Given the description of an element on the screen output the (x, y) to click on. 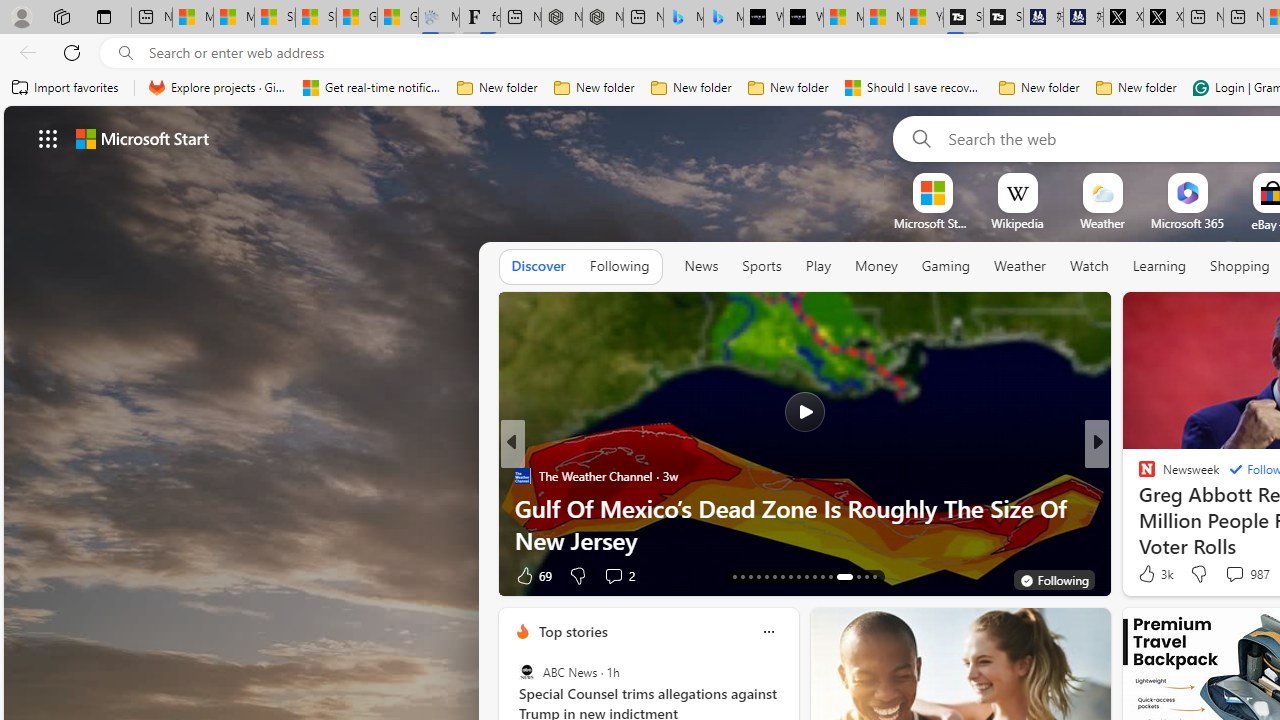
Money (875, 265)
241 Like (1151, 574)
